Given the description of an element on the screen output the (x, y) to click on. 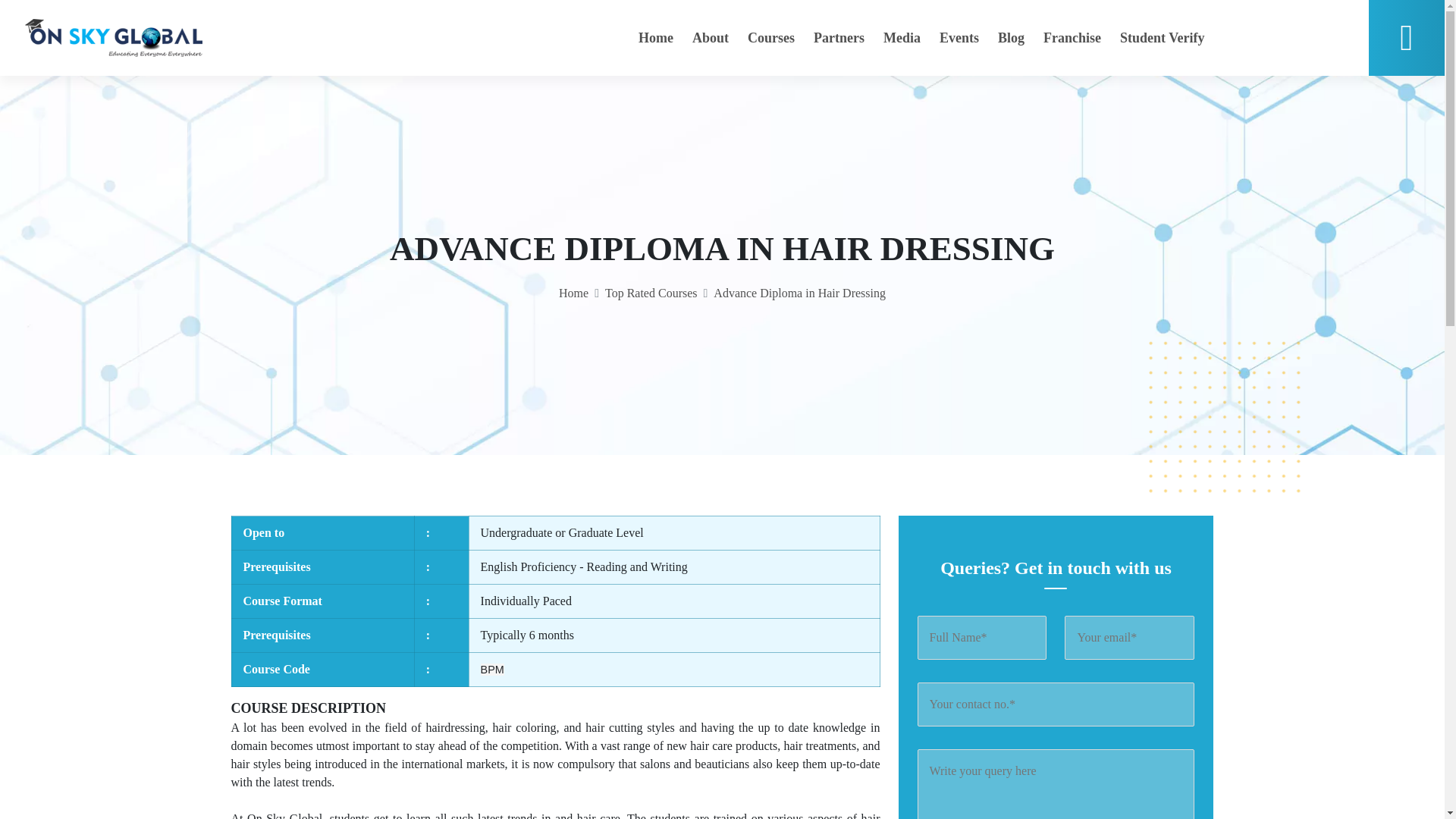
Student Verify (1162, 37)
Franchise (1071, 37)
Partners (838, 37)
